Given the description of an element on the screen output the (x, y) to click on. 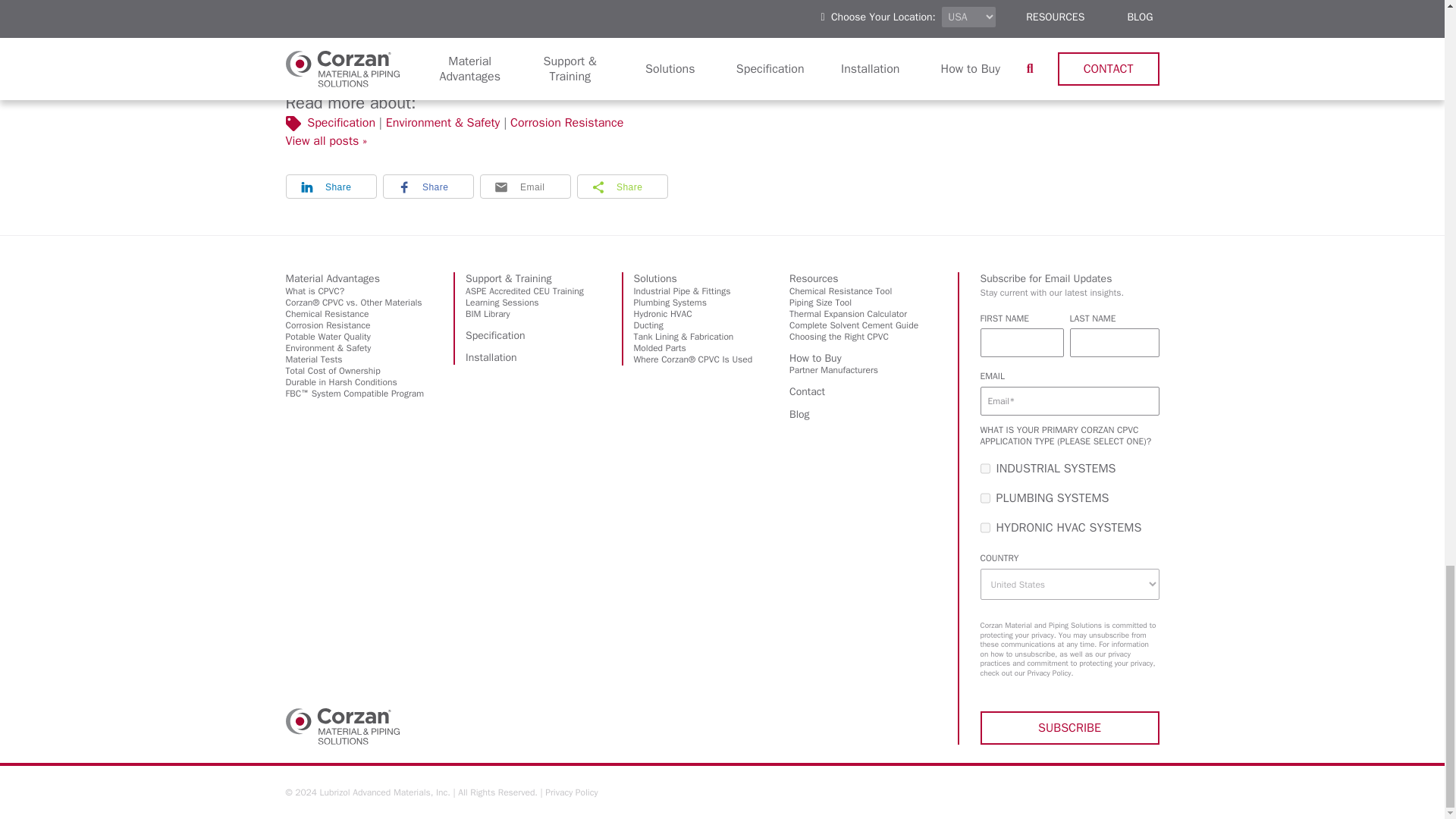
Corzan (341, 726)
Subscribe (1068, 727)
